Given the description of an element on the screen output the (x, y) to click on. 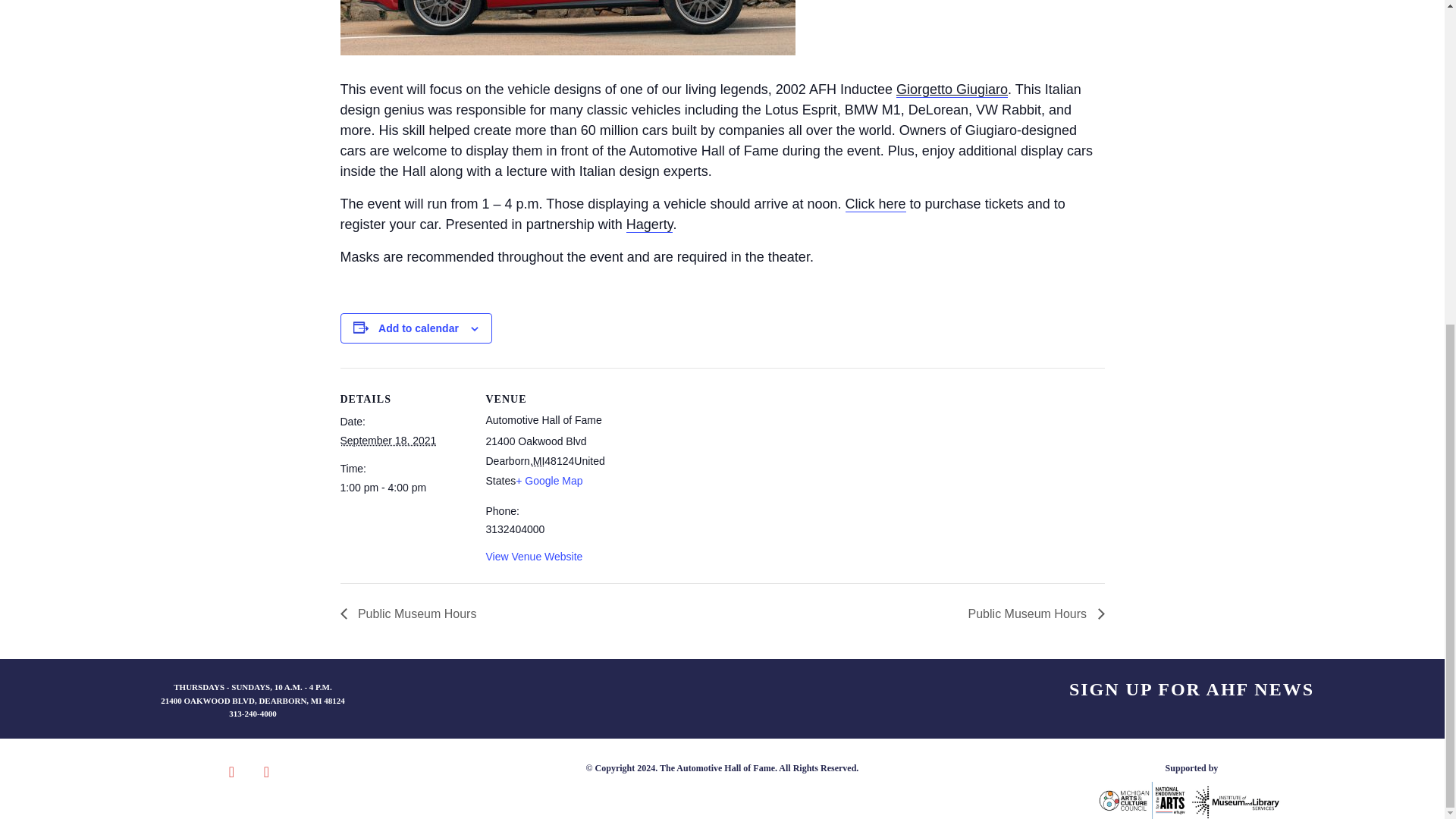
2021-09-18 (387, 440)
Michigan (538, 460)
2021-09-18 (403, 488)
Click to view a Google Map (548, 480)
